Given the description of an element on the screen output the (x, y) to click on. 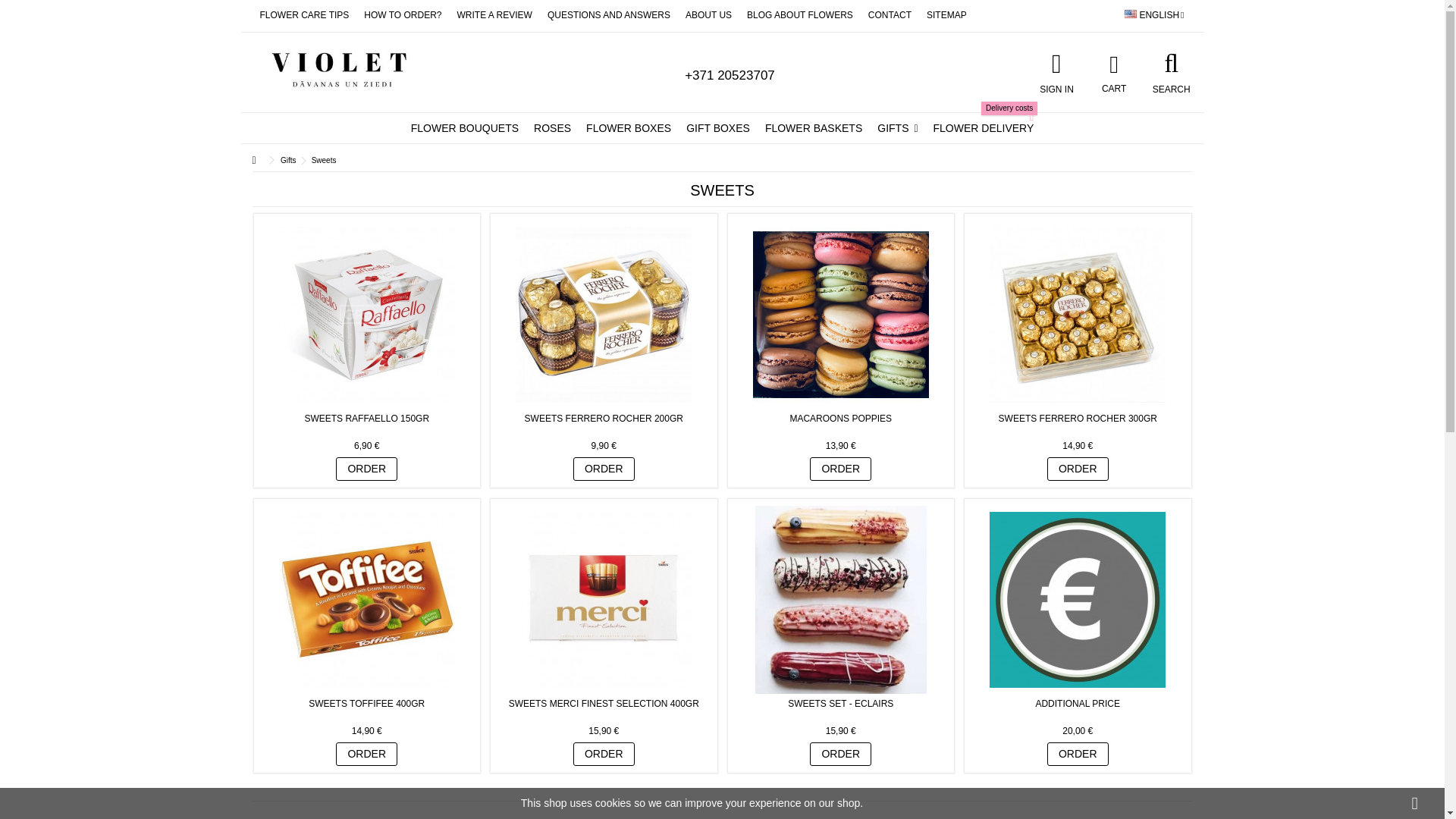
BLOG ABOUT FLOWERS (799, 14)
ABOUT US (1113, 71)
HOW TO ORDER? (708, 14)
FLOWER BOXES (402, 14)
FLOWER CARE TIPS (628, 128)
WRITE A REVIEW (304, 14)
ROSES (494, 14)
SITEMAP (551, 128)
QUESTIONS AND ANSWERS (946, 14)
FLOWER BOUQUETS (608, 14)
CONTACT (464, 128)
GIFT BOXES (889, 14)
